Given the description of an element on the screen output the (x, y) to click on. 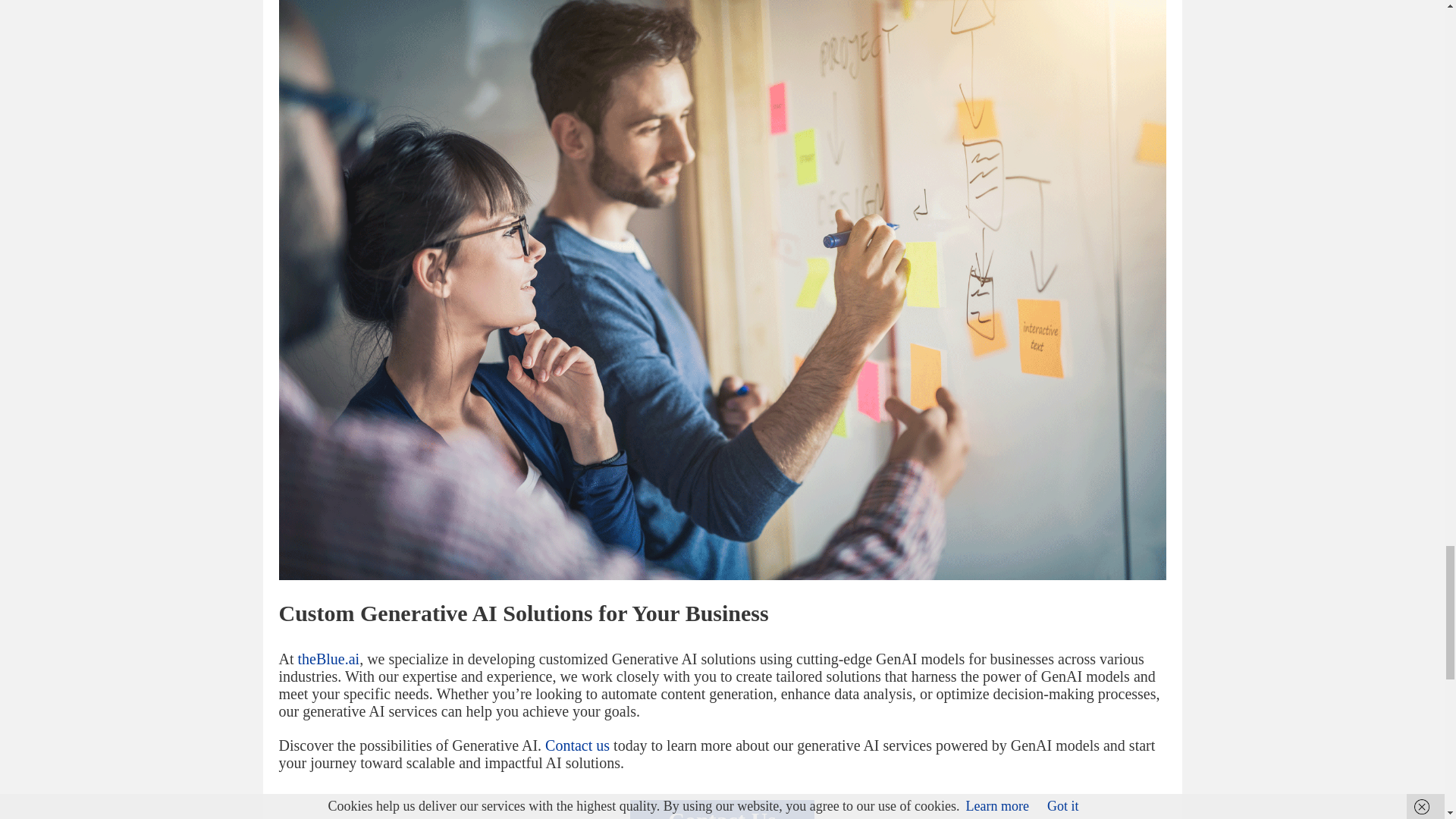
Contact us (577, 745)
theBlue.ai (328, 658)
Contact Us (721, 808)
